Given the description of an element on the screen output the (x, y) to click on. 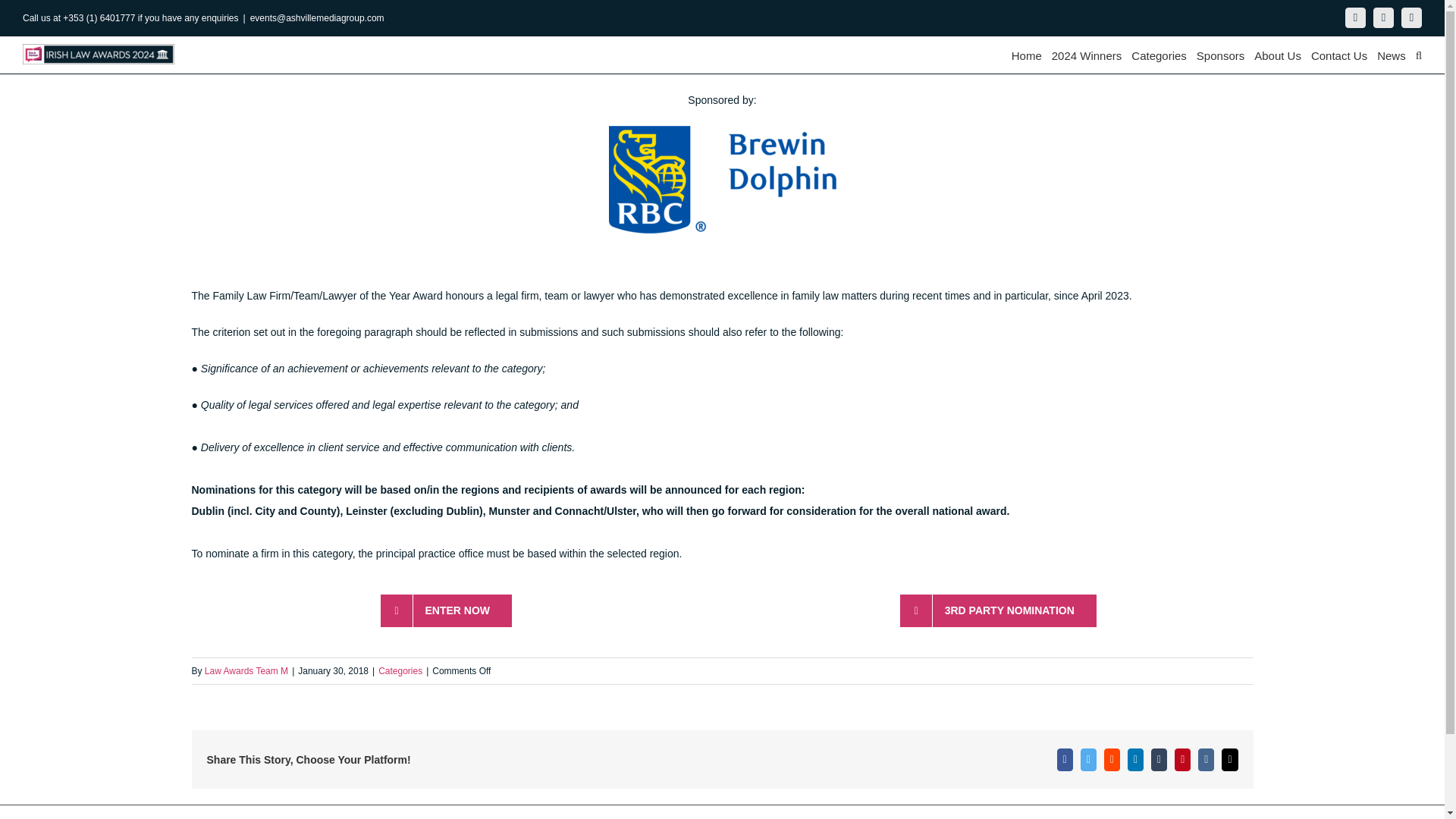
Search (1418, 54)
LinkedIn (721, 610)
Posts by Law Awards Team M (1411, 17)
Home (246, 670)
About Us (1026, 54)
Contact Us (1277, 54)
News (1339, 54)
ENTER NOW (1391, 54)
Facebook (446, 610)
Categories (1355, 17)
Sponsors (1158, 54)
Twitter (1220, 54)
2024 Winners (1383, 17)
Law Awards Team M (1086, 54)
